Given the description of an element on the screen output the (x, y) to click on. 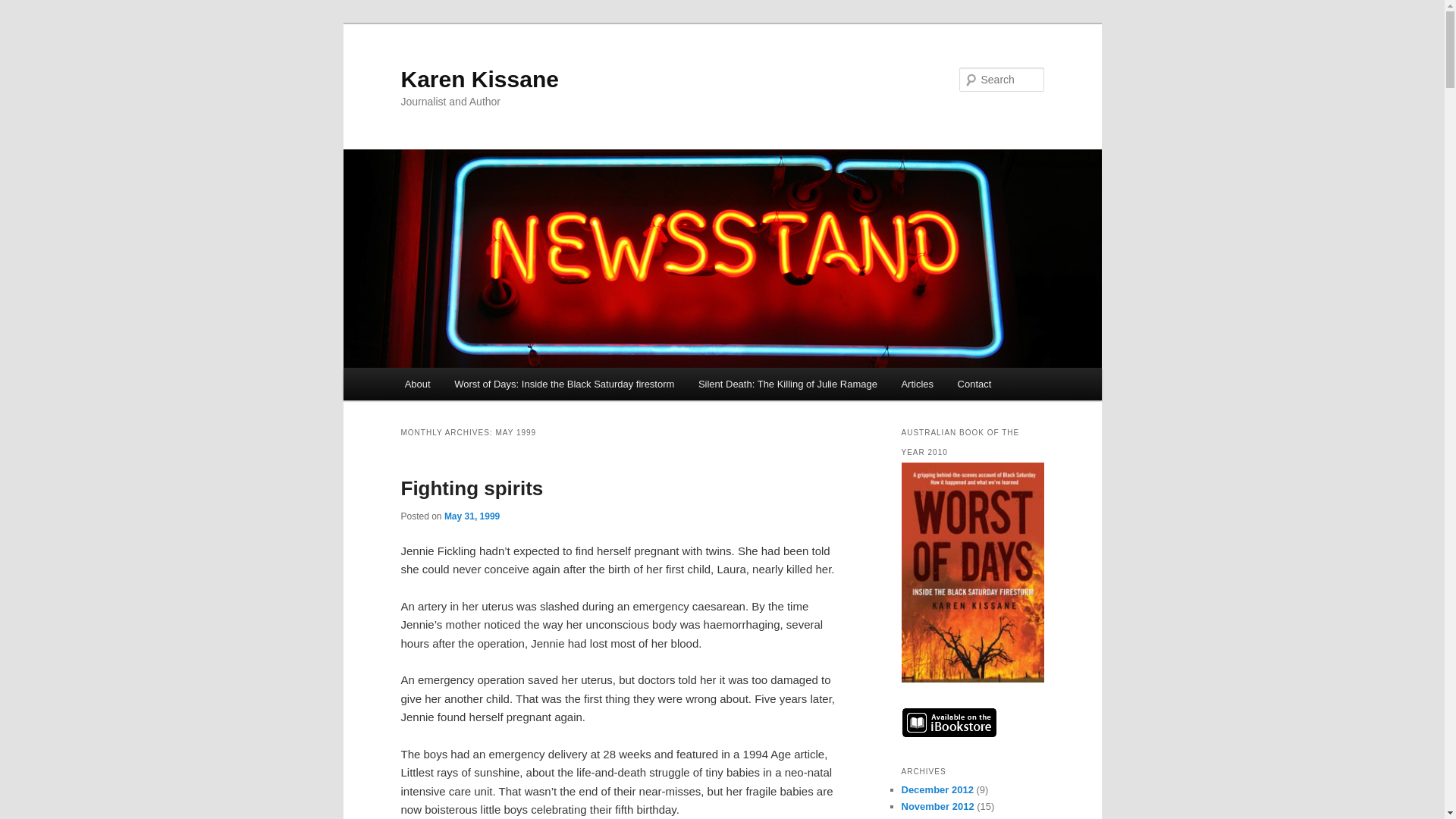
Silent Death: The Killing of Julie Ramage (787, 383)
November 2012 (937, 806)
December 2012 (936, 789)
Search (24, 8)
Articles (916, 383)
Karen Kissane (478, 78)
October 2012 (931, 817)
May 31, 1999 (471, 516)
Worst of Days: Inside the Black Saturday firestorm (563, 383)
About (417, 383)
